Given the description of an element on the screen output the (x, y) to click on. 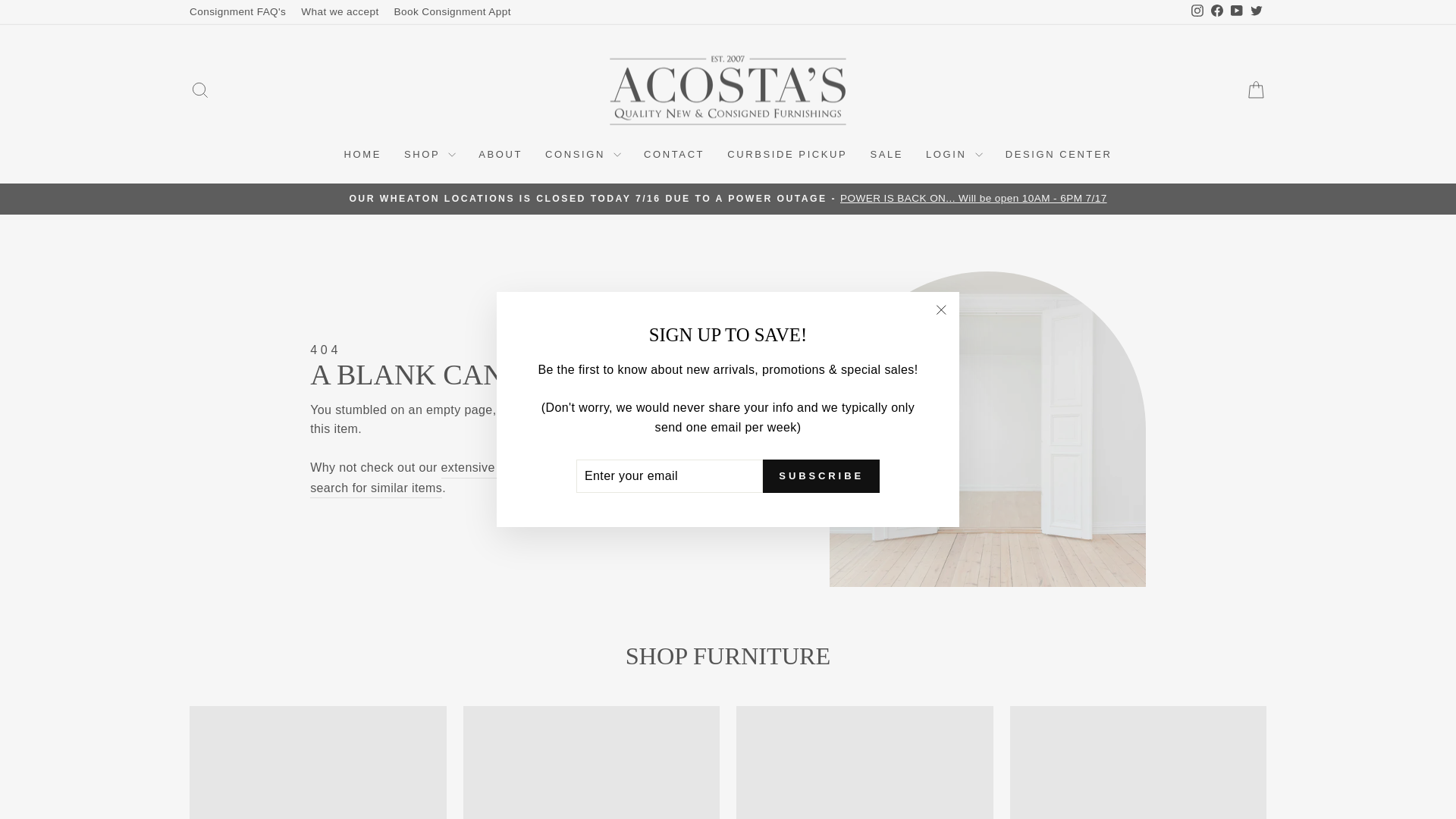
All collections (490, 467)
What we accept (339, 12)
Consignment FAQ's (238, 12)
icon-X (941, 310)
instagram (1197, 10)
ICON-SEARCH (200, 89)
twitter (1256, 10)
